Given the description of an element on the screen output the (x, y) to click on. 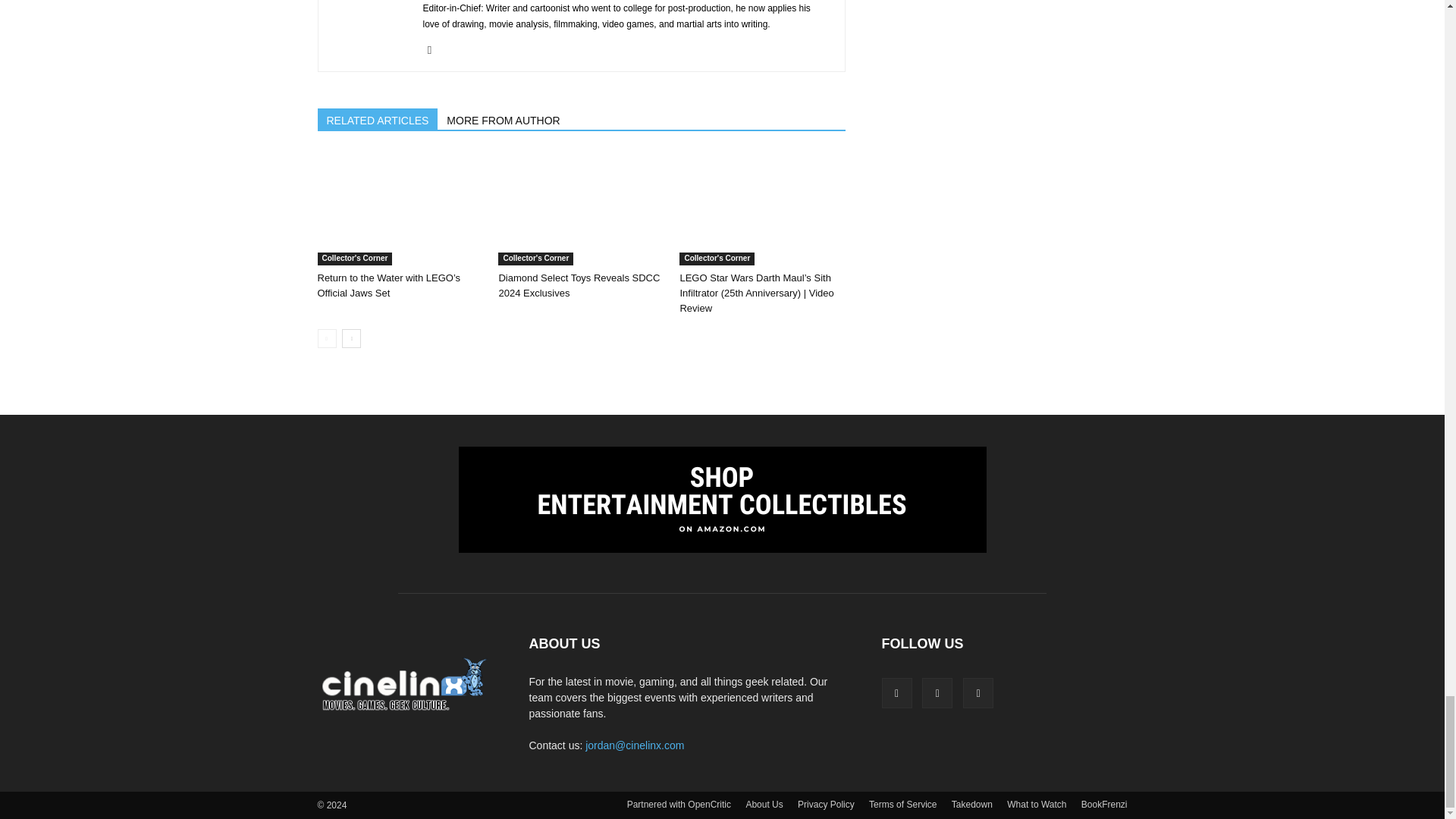
Twitter (435, 49)
